Given the description of an element on the screen output the (x, y) to click on. 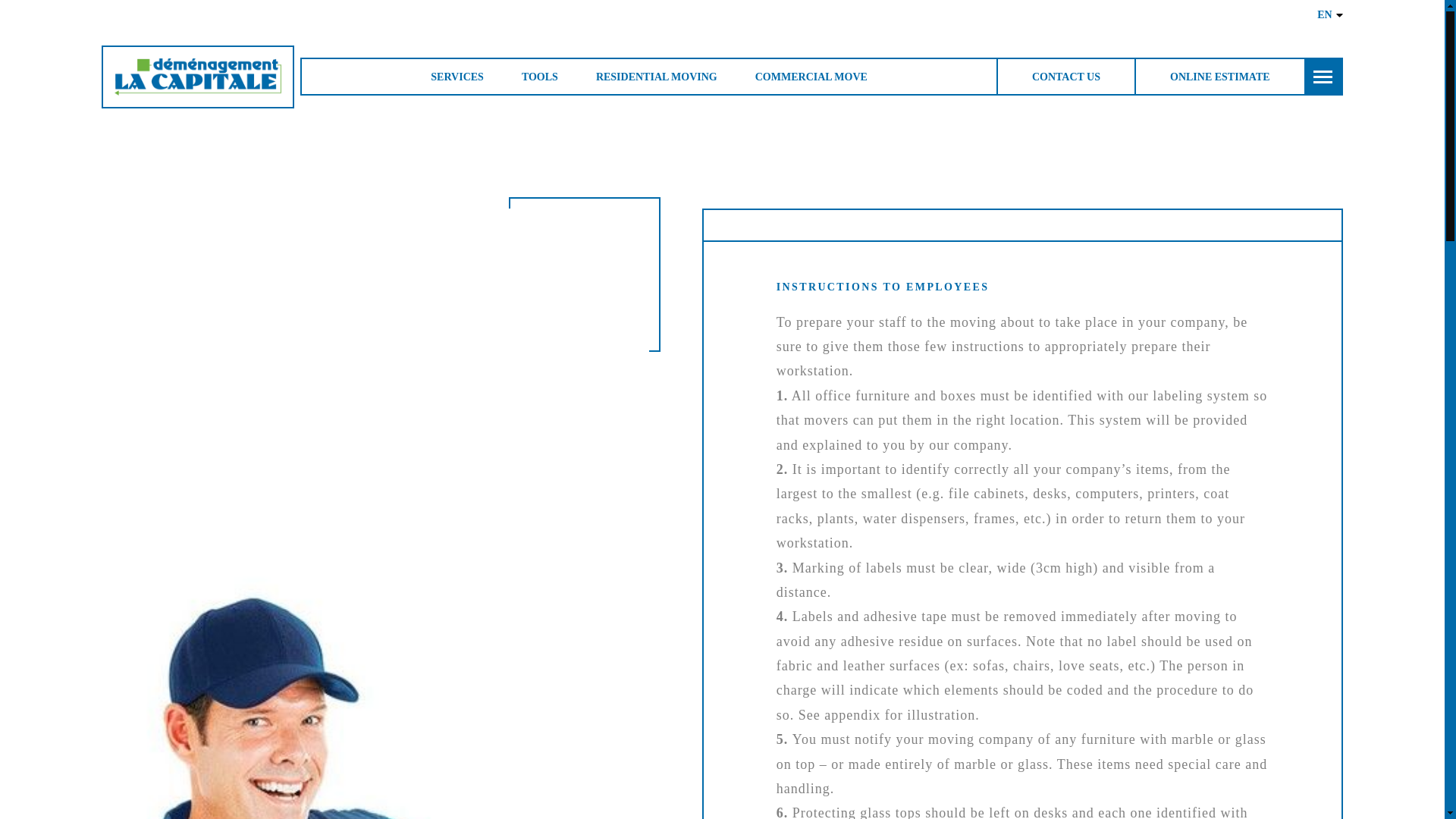
COMMERCIAL MOVE (811, 76)
Contact us (1065, 76)
Online estimate (1219, 76)
RESIDENTIAL MOVING (656, 76)
TOOLS (539, 76)
ONLINE ESTIMATE (1219, 76)
CONTACT US (1065, 76)
Tools (539, 76)
Services (457, 76)
Residential moving (656, 76)
